Given the description of an element on the screen output the (x, y) to click on. 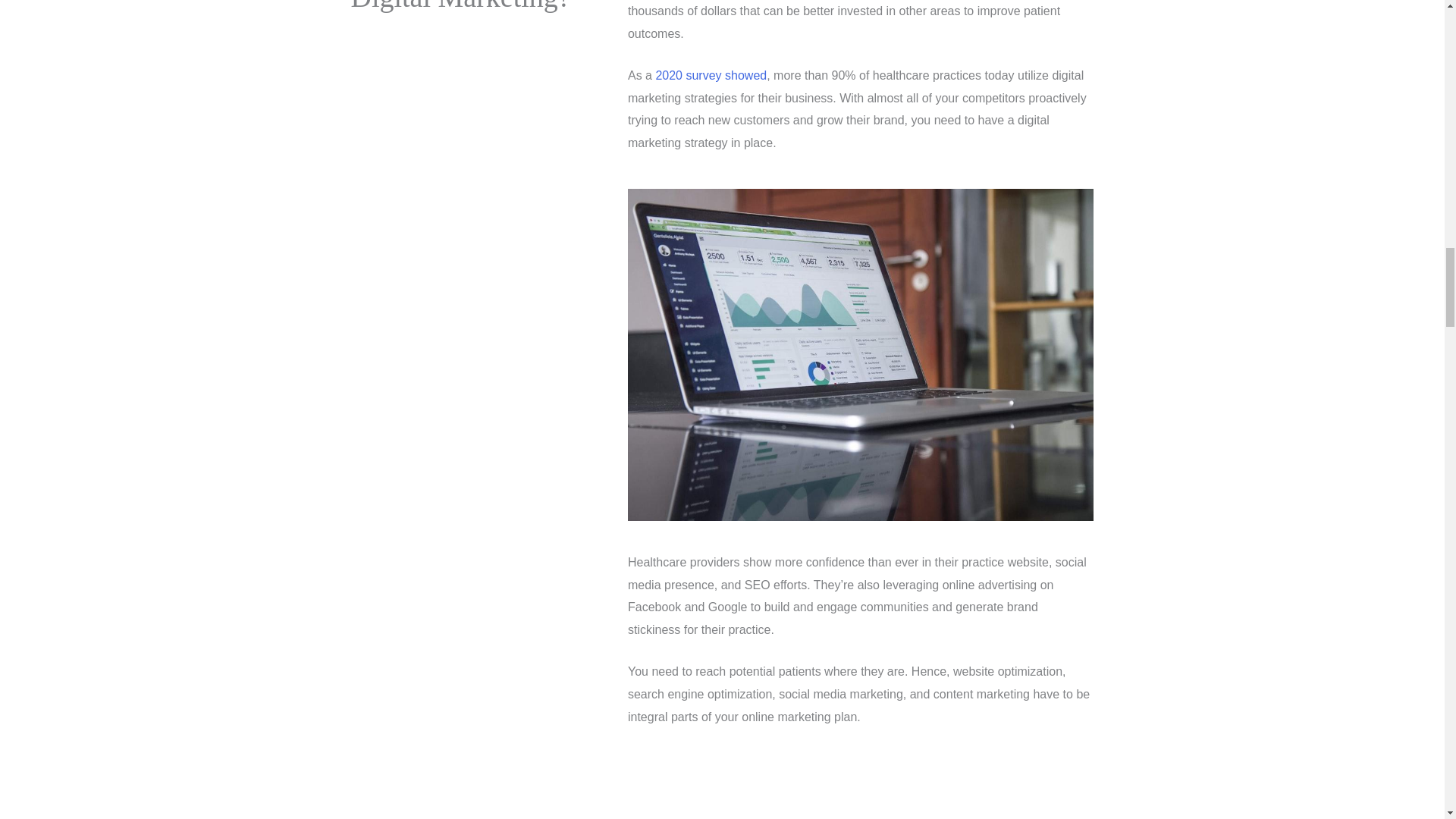
2020 survey showed (711, 74)
